Given the description of an element on the screen output the (x, y) to click on. 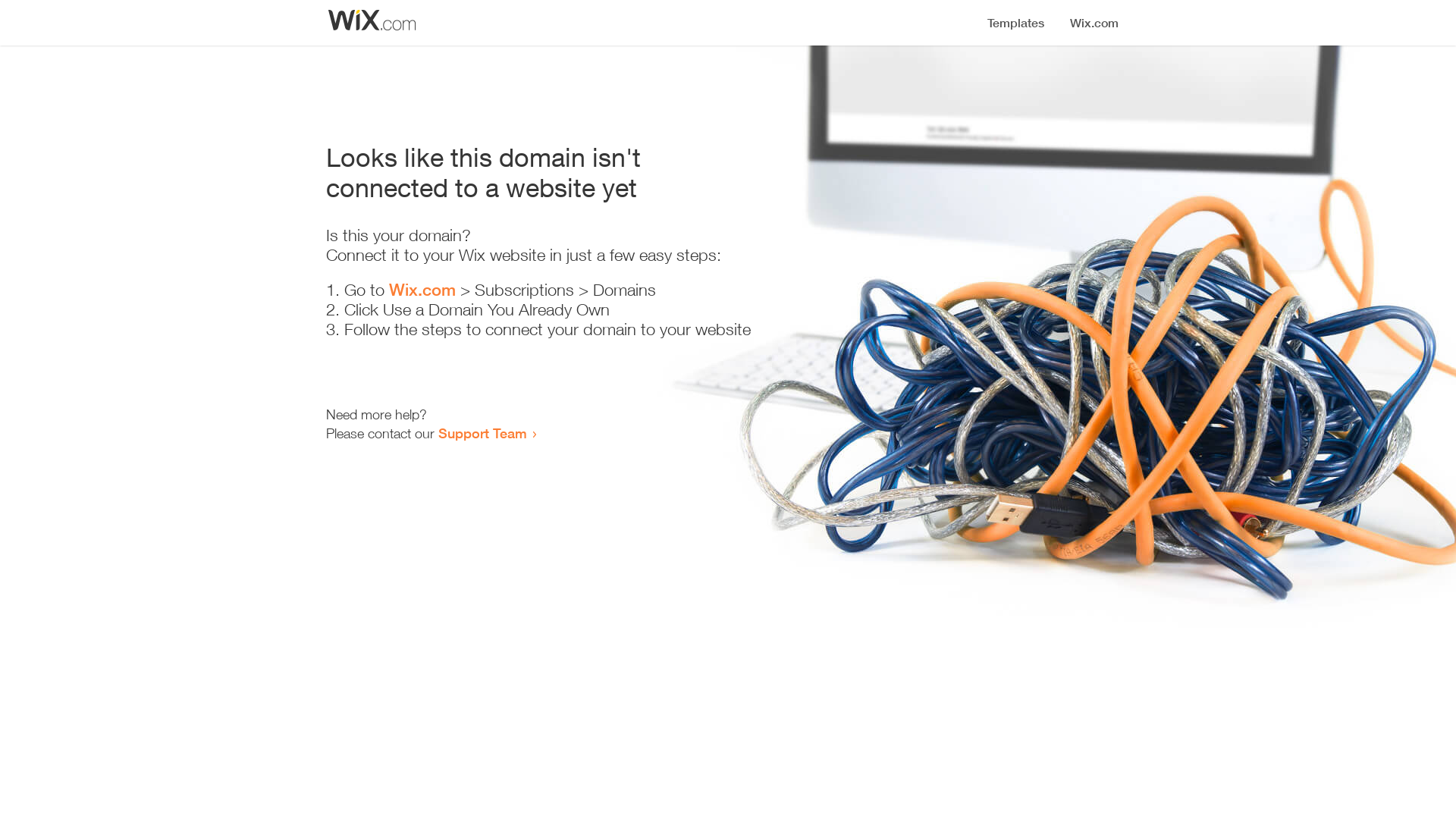
Wix.com Element type: text (422, 289)
Support Team Element type: text (482, 432)
